Given the description of an element on the screen output the (x, y) to click on. 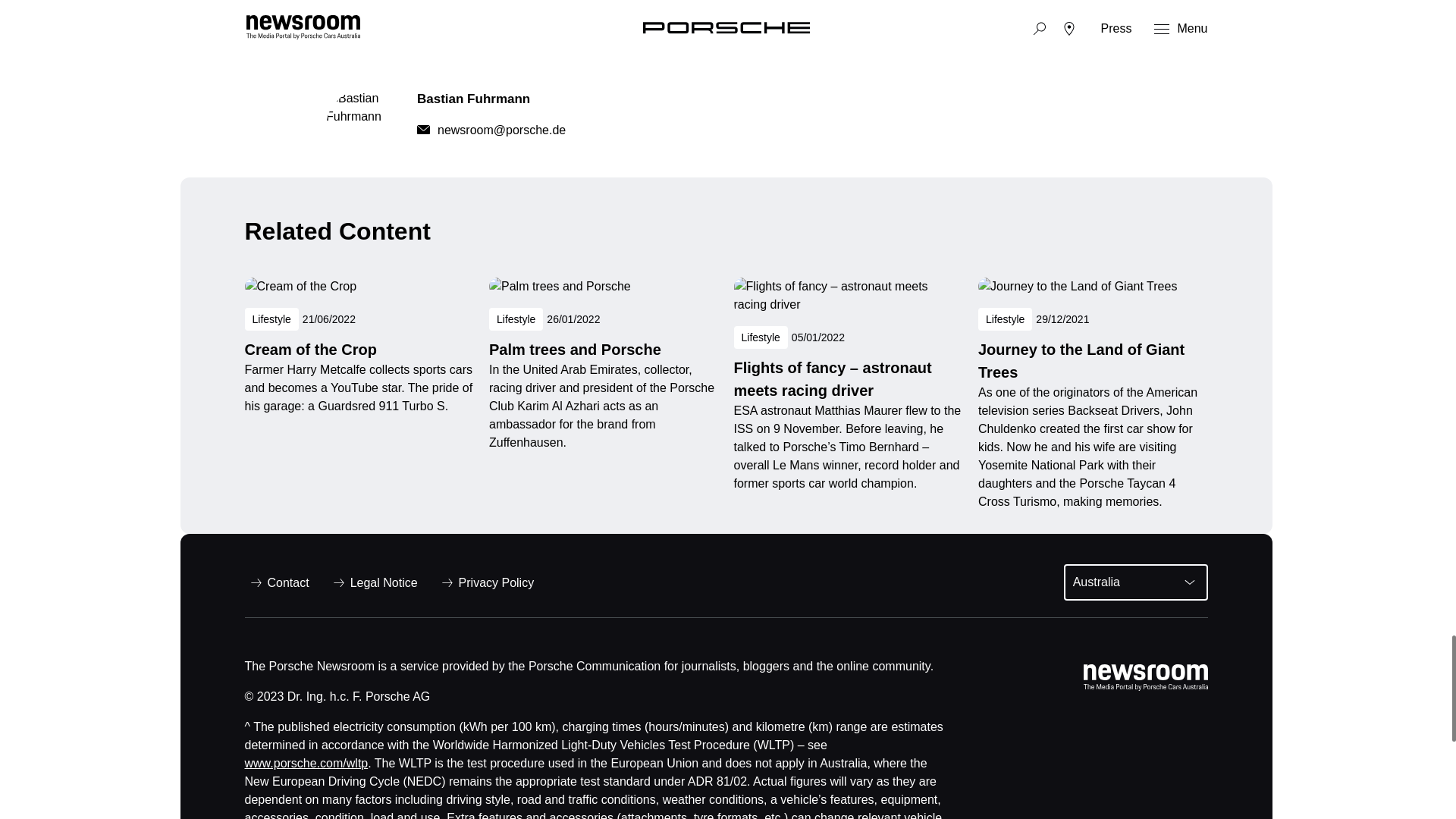
on (562, 55)
